Given the description of an element on the screen output the (x, y) to click on. 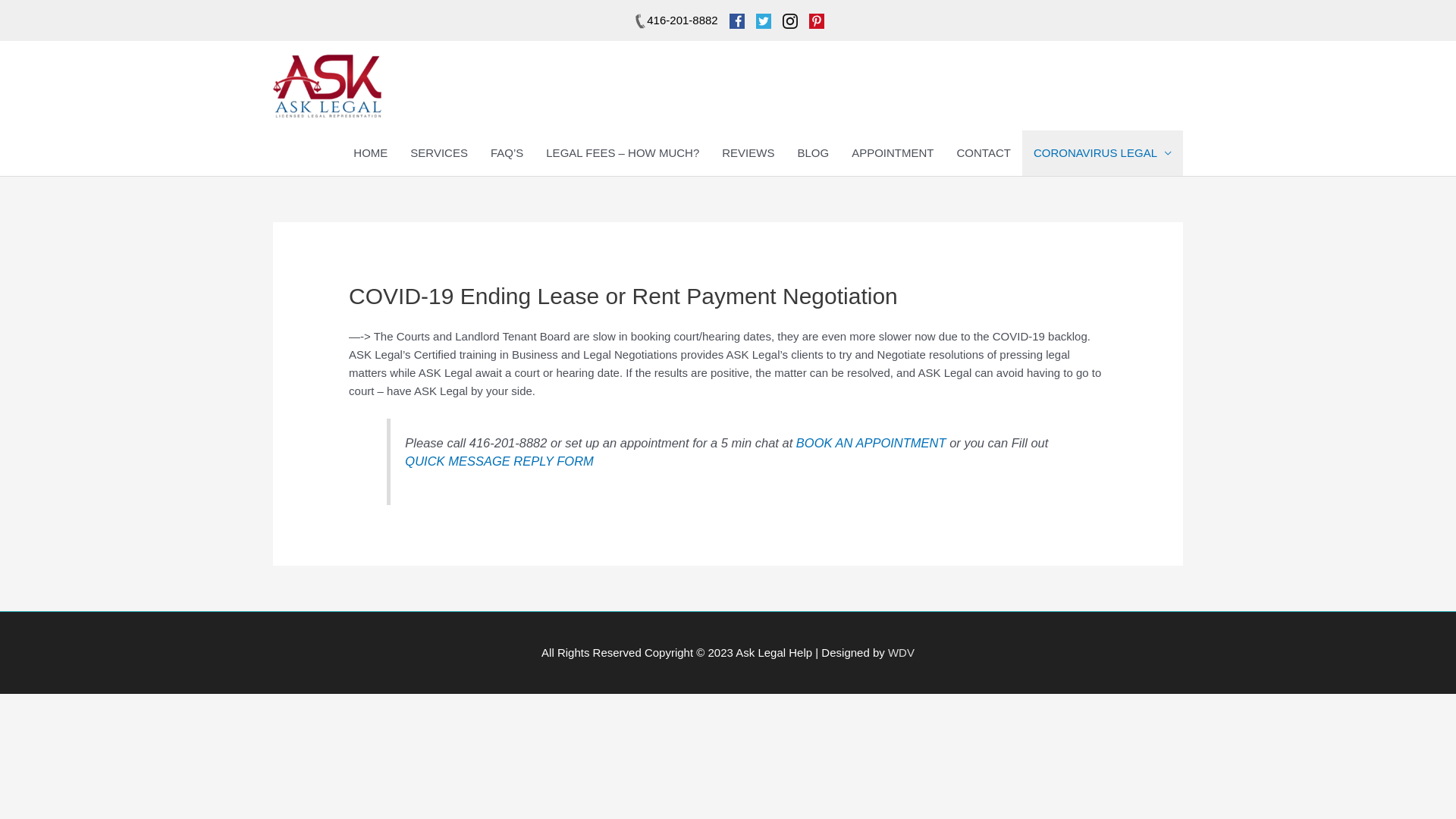
QUICK MESSAGE REPLY FORM Element type: text (498, 460)
Pinterest Element type: hover (816, 20)
CONTACT Element type: text (982, 152)
APPOINTMENT Element type: text (892, 152)
HOME Element type: text (370, 152)
WDV Element type: text (901, 652)
SERVICES Element type: text (438, 152)
BOOK AN APPOINTMENT Element type: text (871, 442)
CORONAVIRUS LEGAL Element type: text (1102, 152)
BLOG Element type: text (812, 152)
Twitter Element type: hover (763, 20)
416-201-8882 Element type: text (674, 19)
Instagram Element type: hover (789, 20)
REVIEWS Element type: text (747, 152)
Facebook Element type: hover (736, 20)
